Given the description of an element on the screen output the (x, y) to click on. 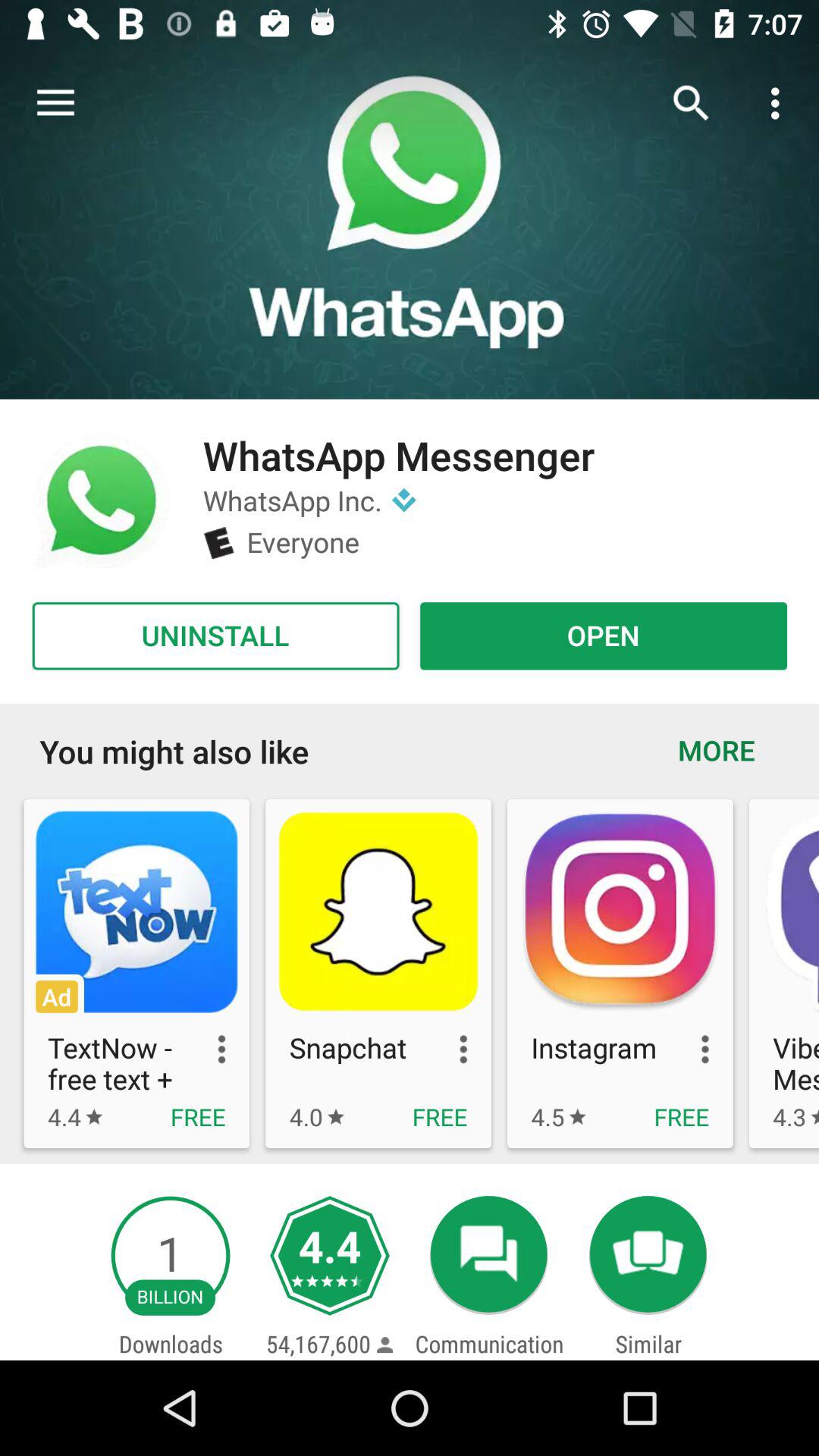
select the icon on the right next to the text 54167600 on the web page (384, 1344)
click on the customize and control icon which is near the instagram application (689, 1049)
click on the the customize and control option which is located at top right corner (779, 103)
click on the snap chat application (378, 973)
click on the icon of the text now (137, 911)
